Given the description of an element on the screen output the (x, y) to click on. 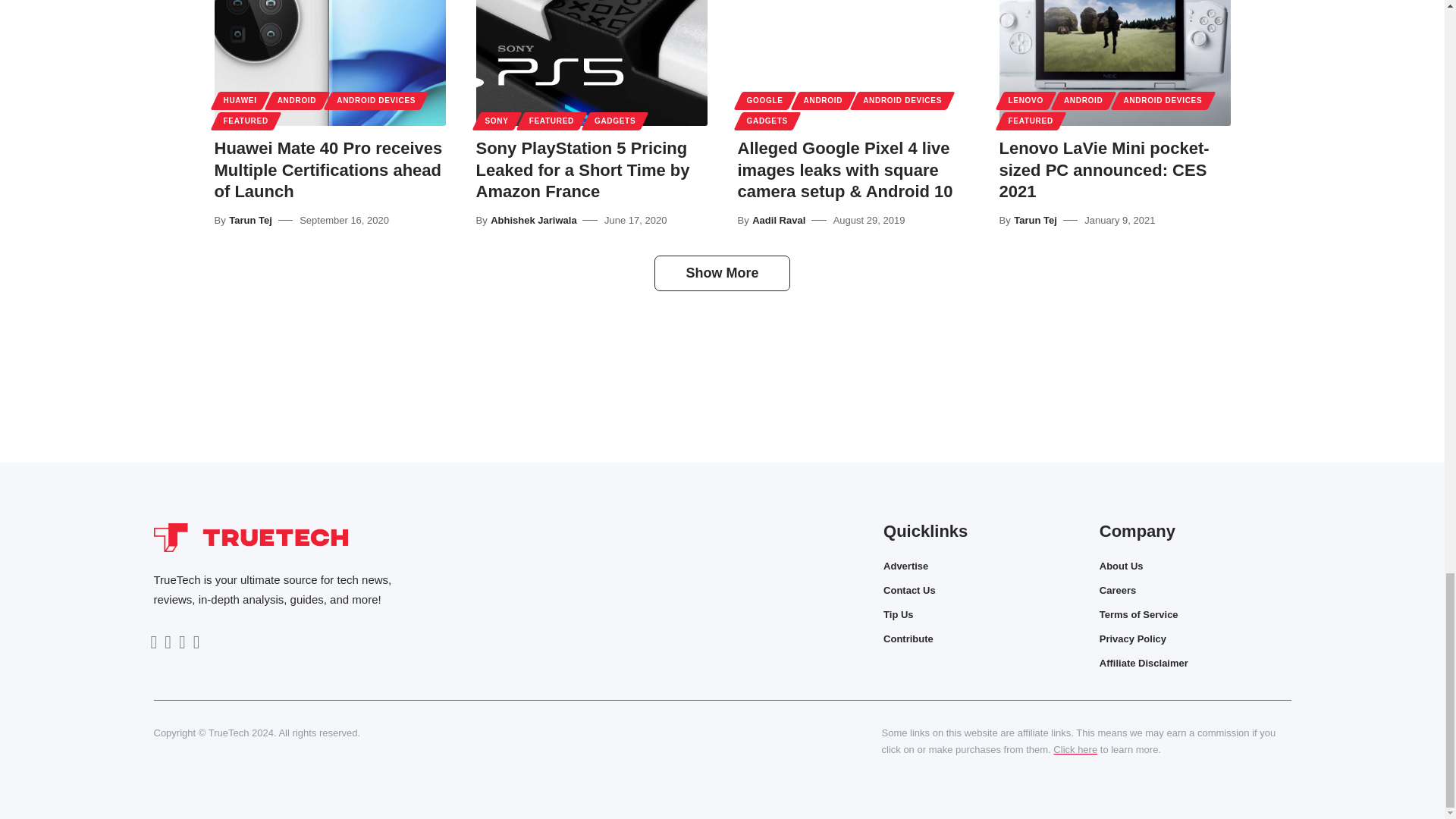
Lenovo LaVie Mini pocket-sized PC announced: CES 2021 (1114, 63)
